Given the description of an element on the screen output the (x, y) to click on. 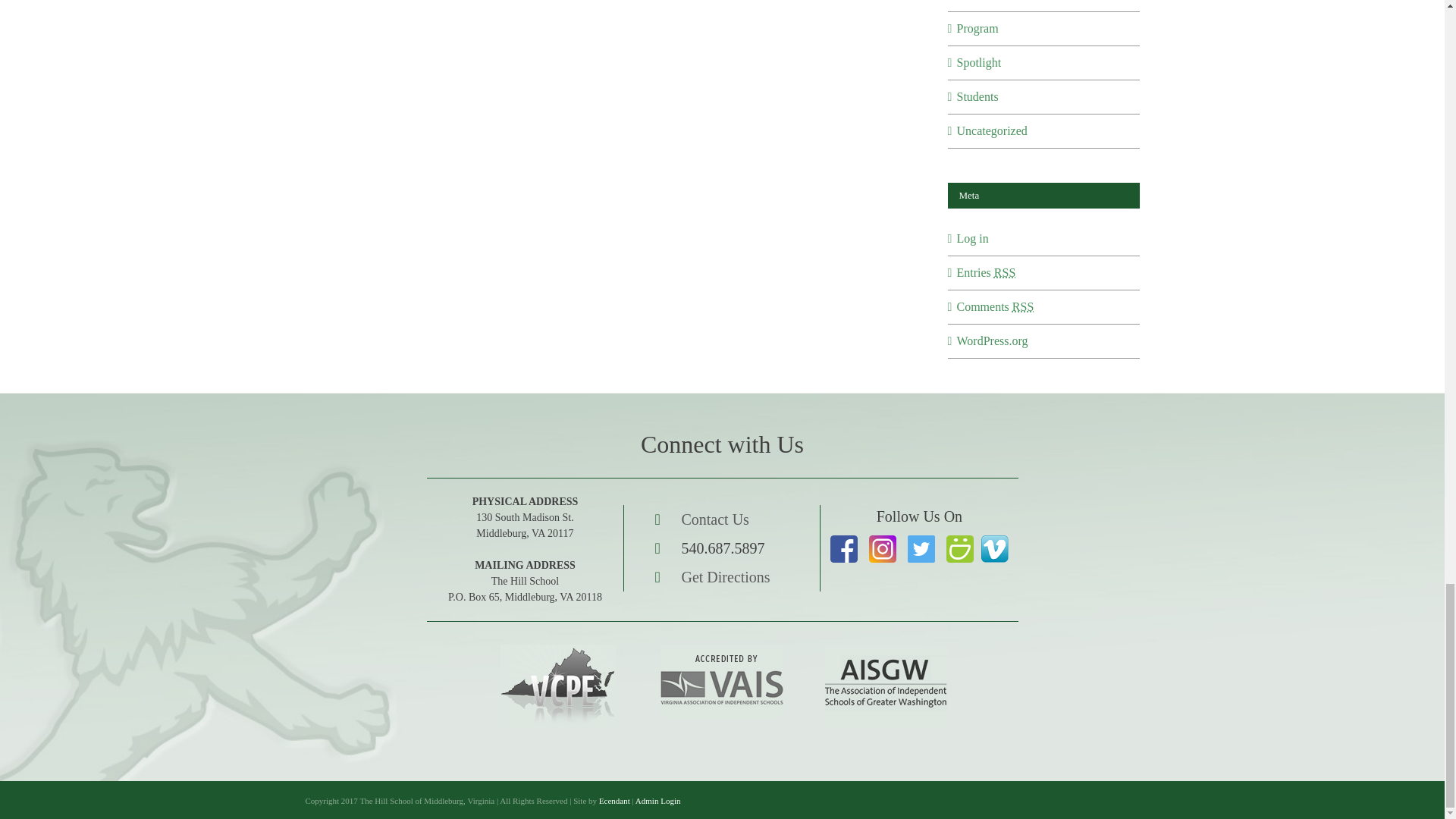
Facebook (844, 538)
Instagram (881, 538)
SmugMug (959, 538)
Instagram (921, 538)
Really Simple Syndication (1004, 272)
Really Simple Syndication (1022, 306)
